Given the description of an element on the screen output the (x, y) to click on. 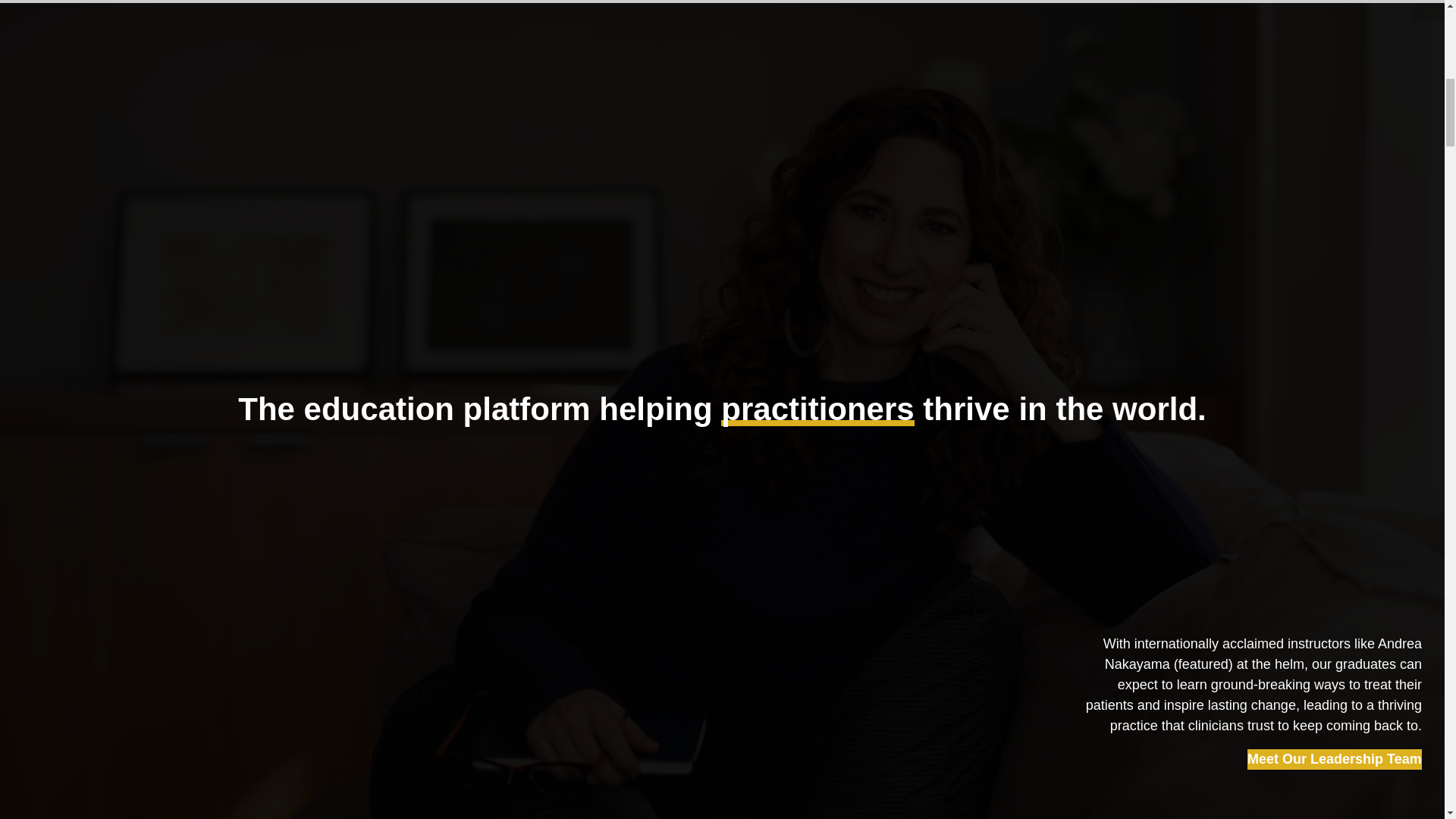
Meet Our Leadership Team (1334, 759)
